Given the description of an element on the screen output the (x, y) to click on. 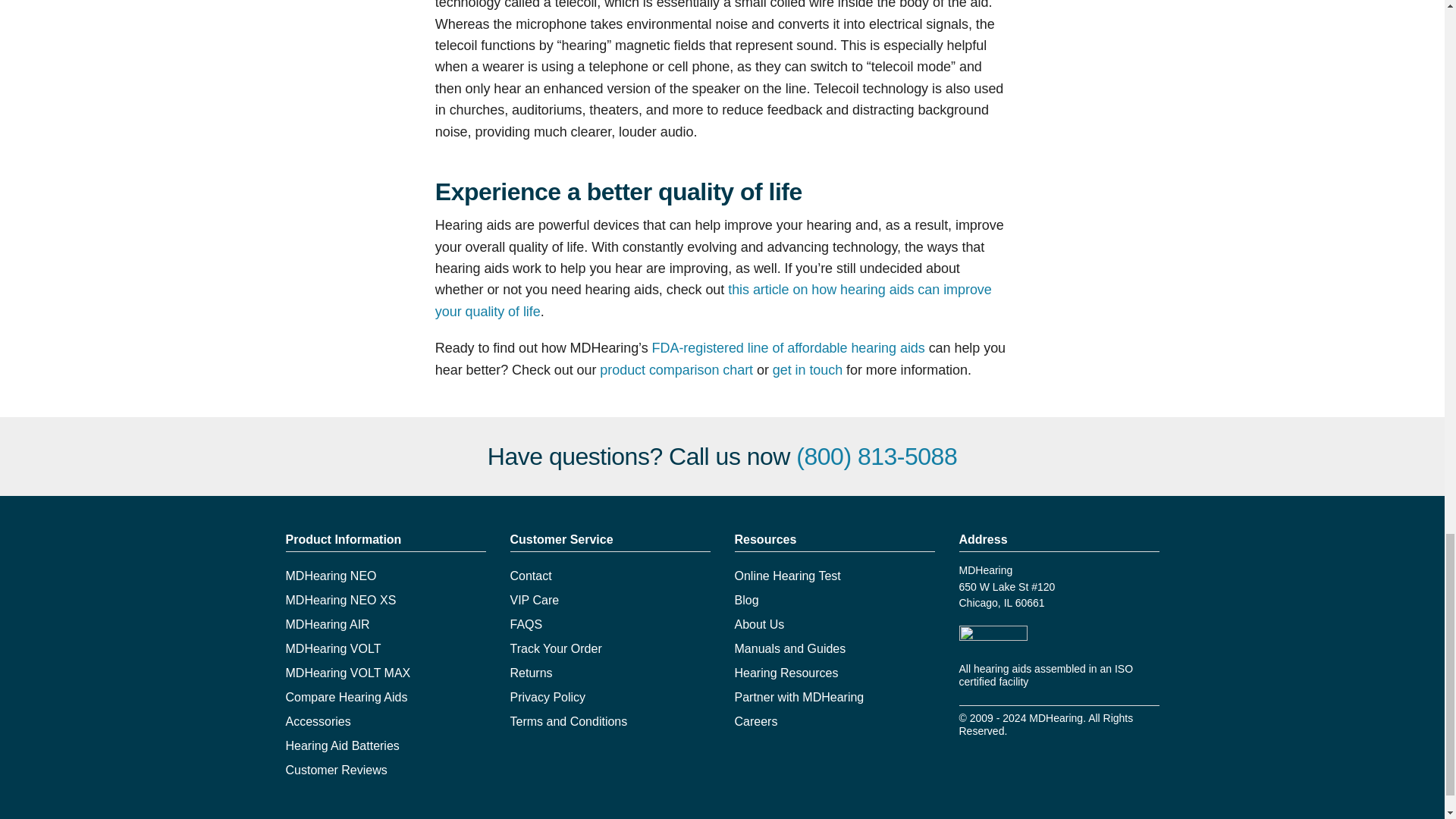
FDA-registered line of affordable hearing aids (788, 347)
Contact (530, 575)
Compare Hearing Aids (346, 697)
MDHearing AIR (327, 624)
Customer Reviews (336, 769)
MDHearing VOLT (332, 648)
get in touch (808, 369)
MDHearing VOLT MAX (347, 672)
Accessories (317, 721)
